Given the description of an element on the screen output the (x, y) to click on. 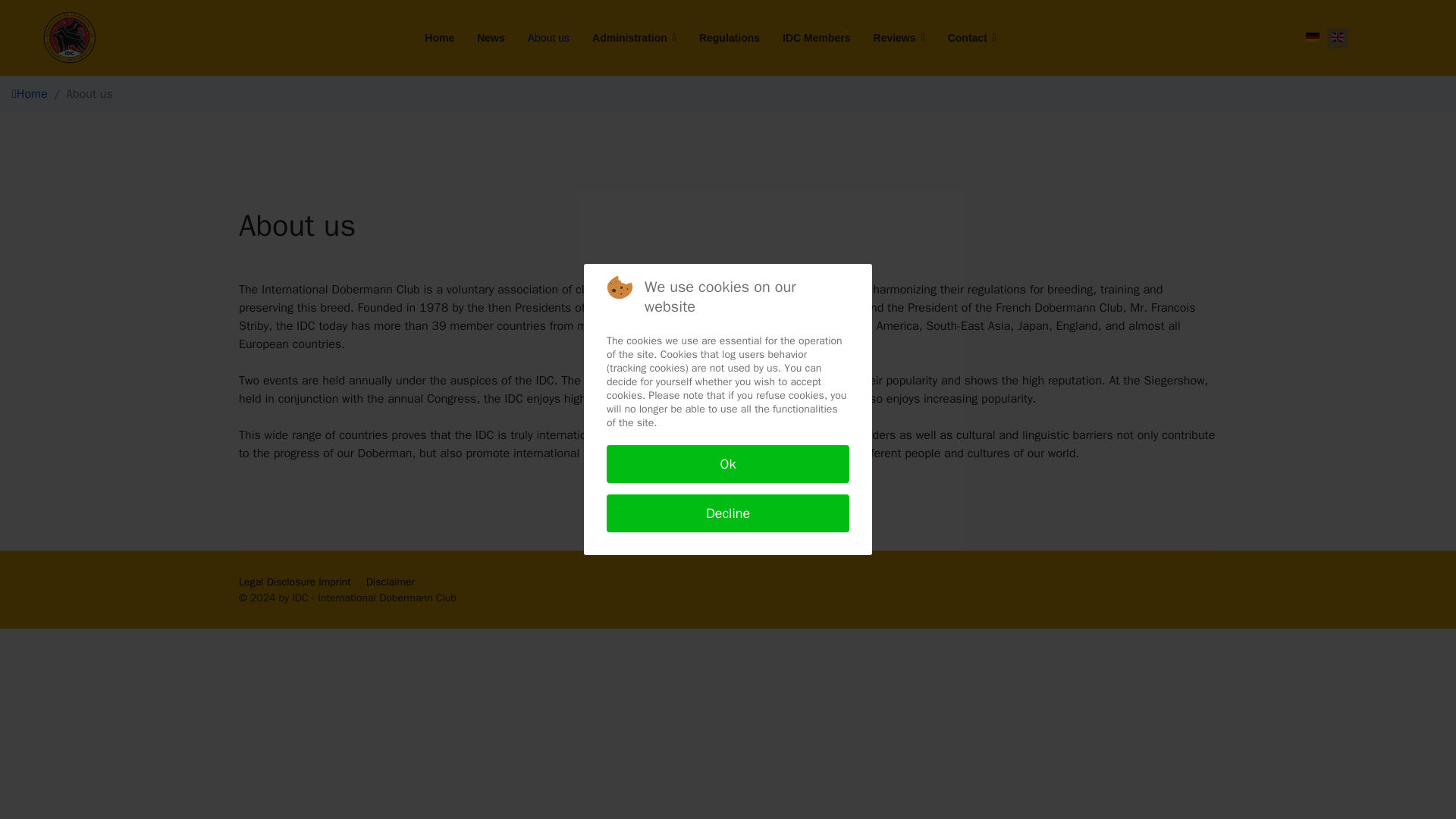
Regulations (729, 38)
IDC Members (816, 38)
Home (32, 93)
Reviews (898, 38)
Administration (633, 38)
Disclaimer (390, 581)
Legal Disclosure Imprint (294, 581)
